Given the description of an element on the screen output the (x, y) to click on. 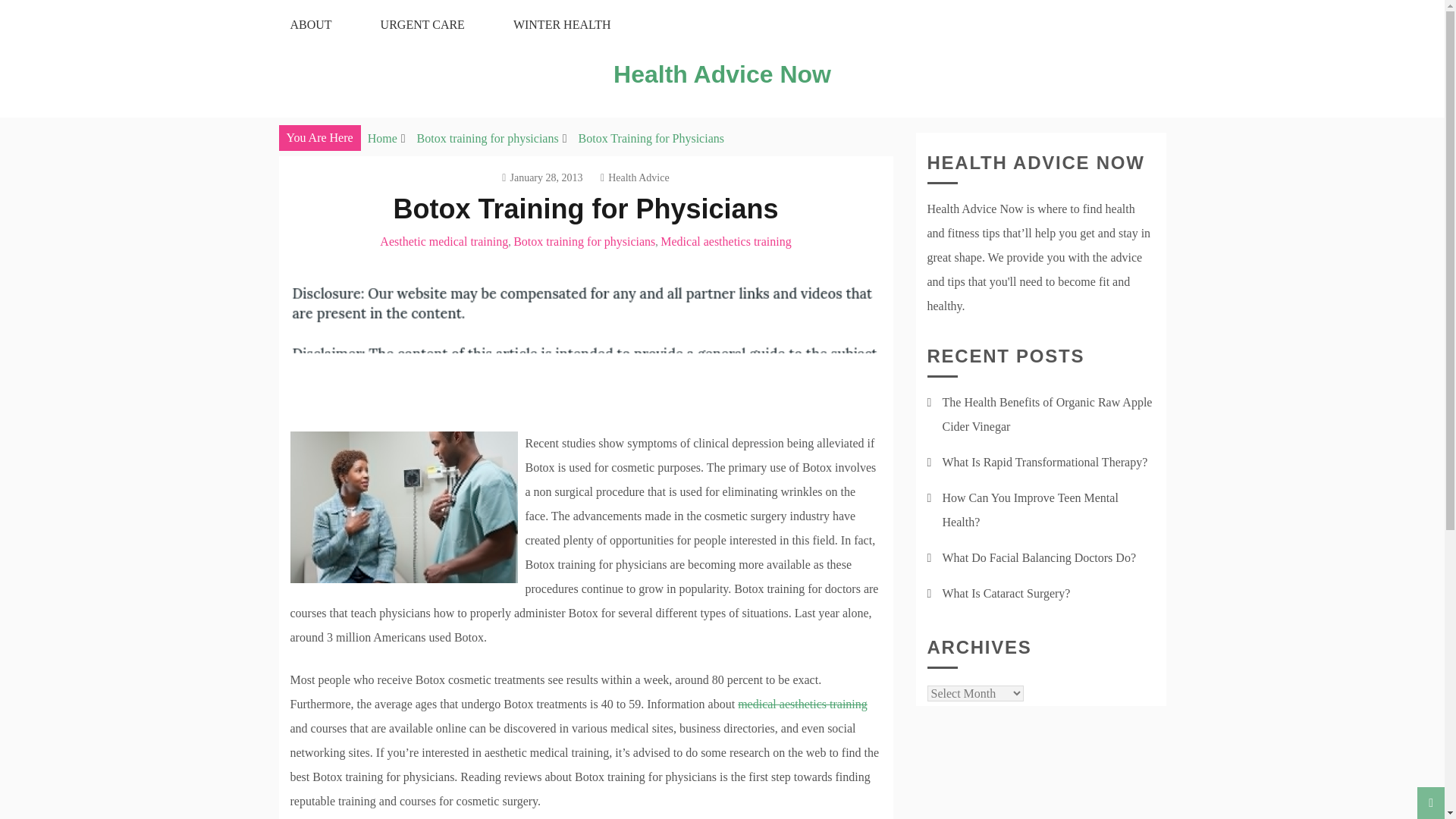
Botox training for physicians (487, 137)
WINTER HEALTH (561, 24)
Botox Training for Physicians (650, 137)
What Do Facial Balancing Doctors Do? (1038, 557)
The Health Benefits of Organic Raw Apple Cider Vinegar (1046, 414)
Health Advice Now (721, 73)
Health Advice (634, 177)
Botox training for physicians (584, 241)
What Is Rapid Transformational Therapy? (1044, 461)
Home (382, 137)
Medical aesthetics training (725, 241)
January 28, 2013 (542, 177)
What Is Cataract Surgery? (1006, 593)
Aesthetic medical training (444, 241)
URGENT CARE (422, 24)
